Given the description of an element on the screen output the (x, y) to click on. 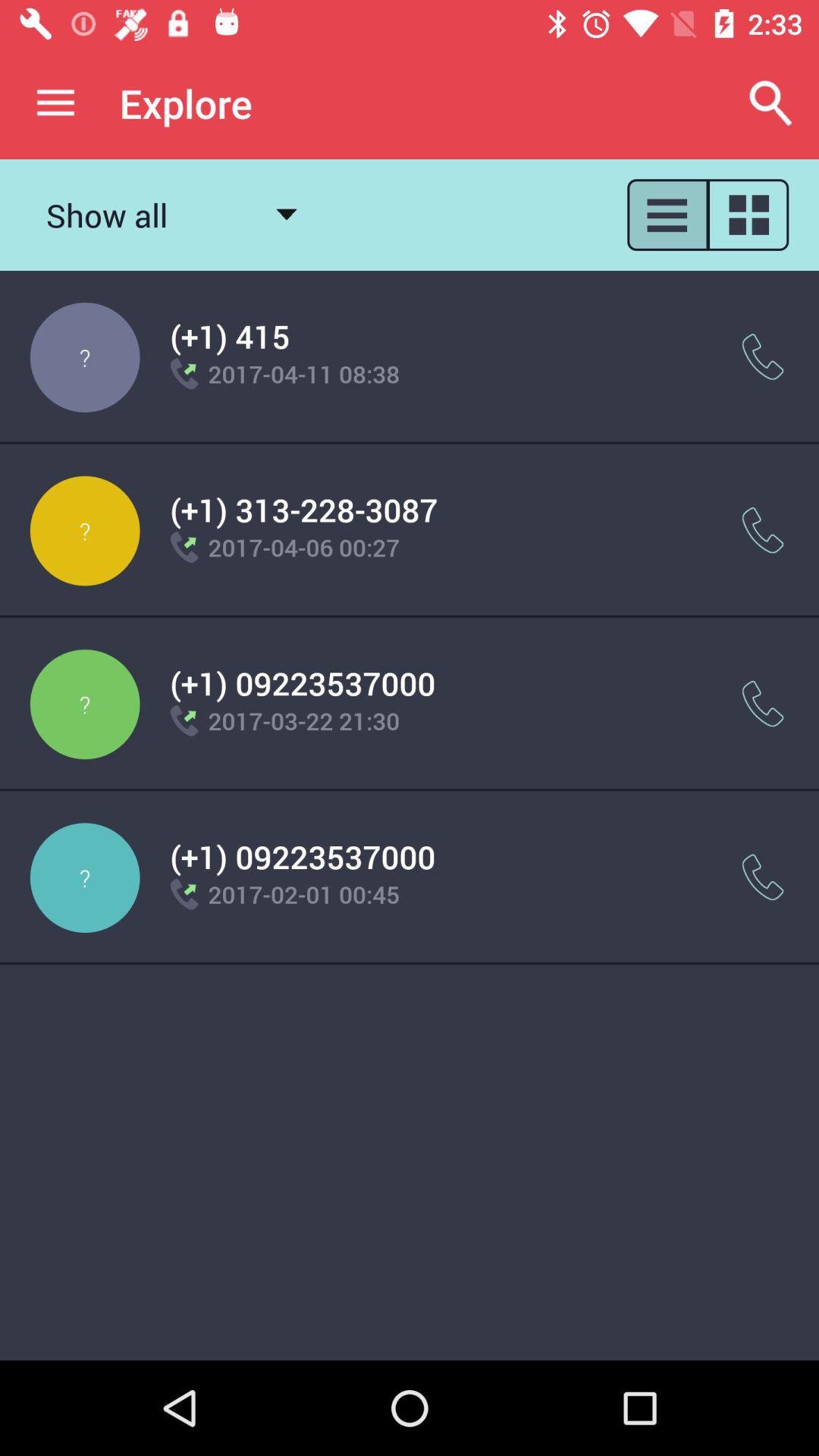
launch the item to the right of (+1) 09223537000 item (762, 877)
